Given the description of an element on the screen output the (x, y) to click on. 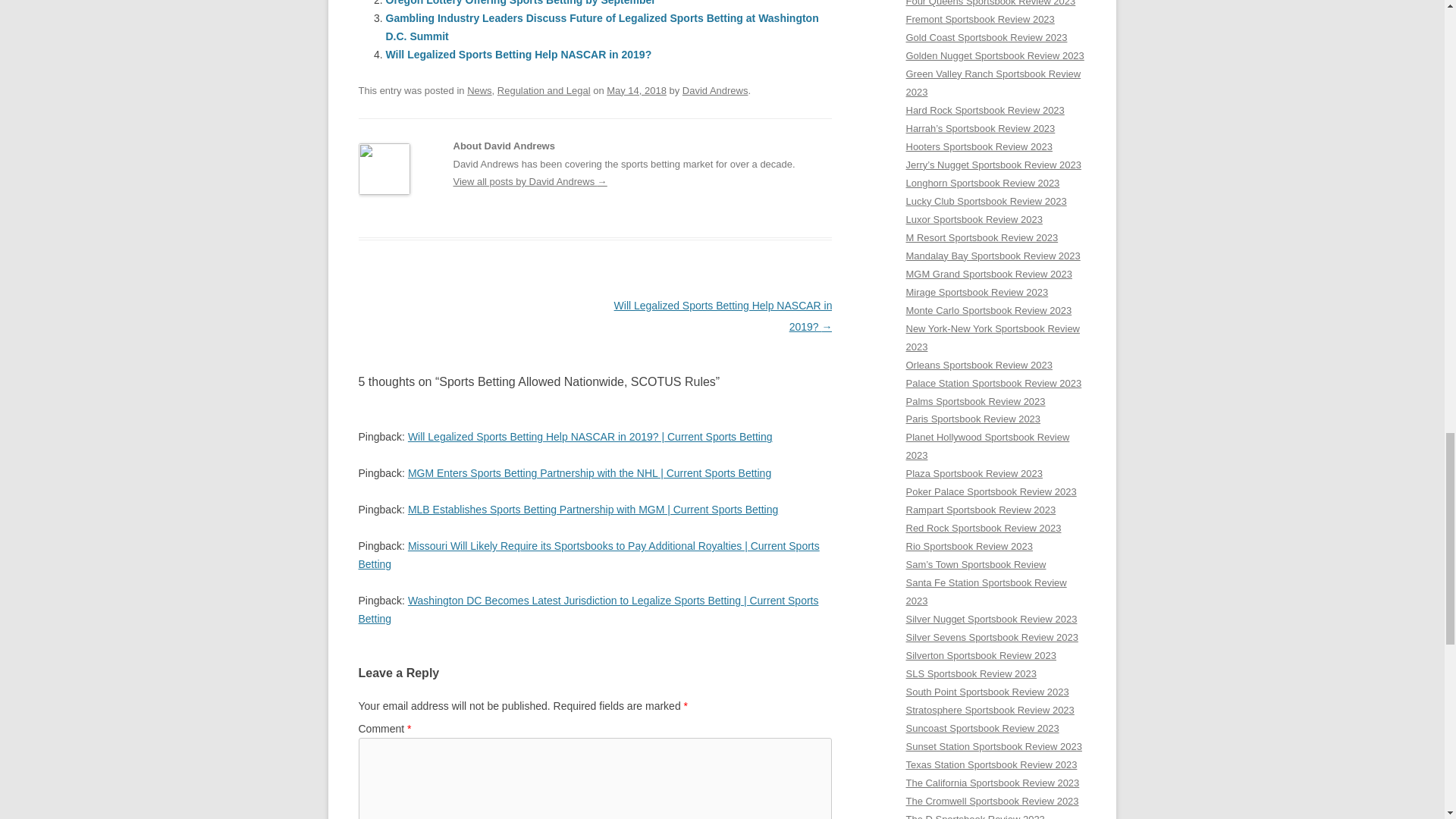
10:26 pm (636, 90)
David Andrews (715, 90)
Will Legalized Sports Betting Help NASCAR in 2019? (517, 54)
News (479, 90)
Will Legalized Sports Betting Help NASCAR in 2019? (517, 54)
View all posts by David Andrews (715, 90)
Oregon Lottery Offering Sports Betting by September (520, 2)
Oregon Lottery Offering Sports Betting by September (520, 2)
Regulation and Legal (544, 90)
May 14, 2018 (636, 90)
